Given the description of an element on the screen output the (x, y) to click on. 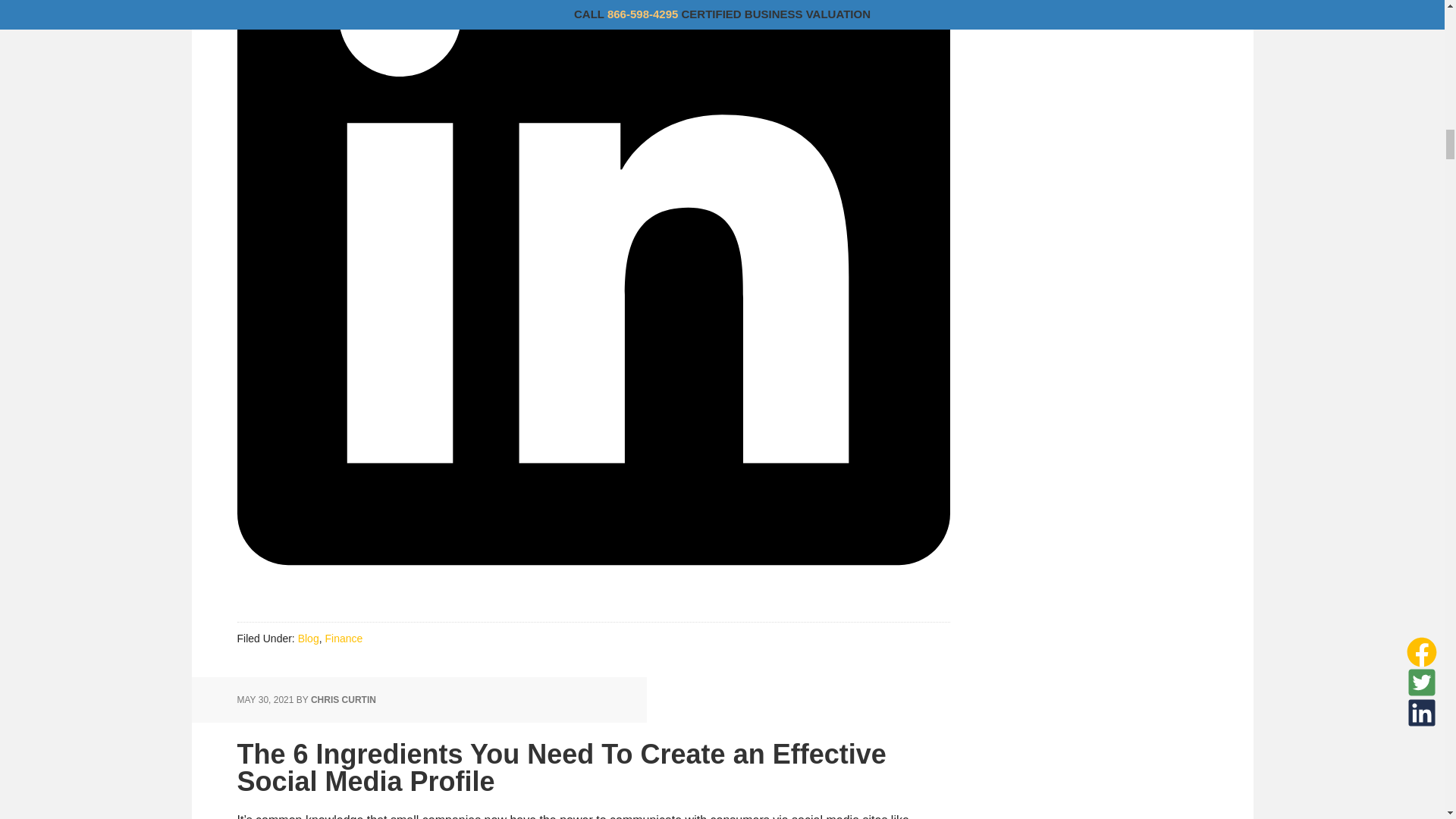
CHRIS CURTIN (343, 699)
Finance (343, 638)
Blog (308, 638)
